Given the description of an element on the screen output the (x, y) to click on. 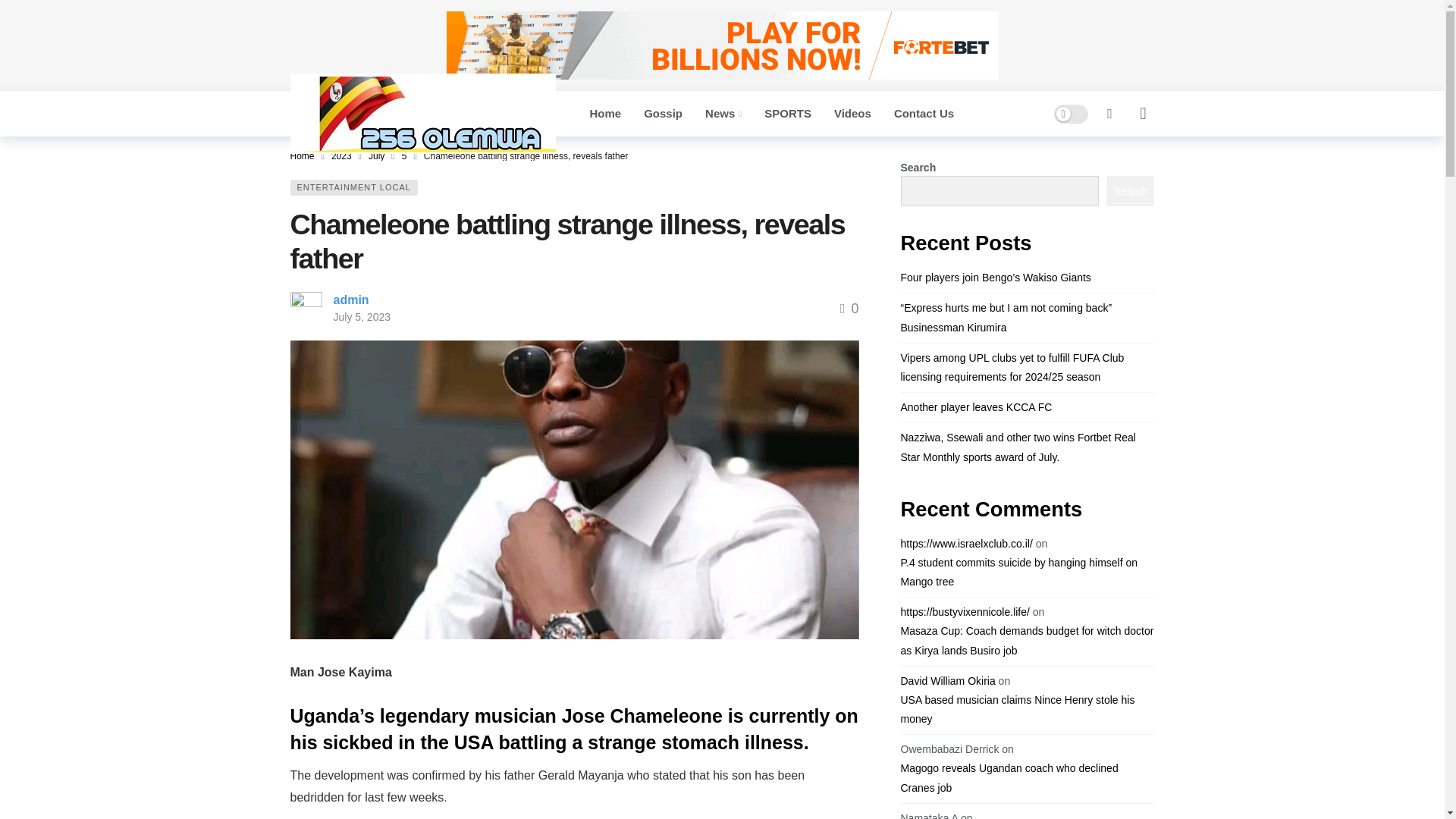
Gossip (662, 113)
July (376, 155)
SPORTS (787, 113)
Contact Us (923, 113)
2023 (341, 155)
0 (849, 308)
July 5, 2023 (362, 316)
Home (301, 155)
ENTERTAINMENT LOCAL (352, 187)
Videos (852, 113)
